Given the description of an element on the screen output the (x, y) to click on. 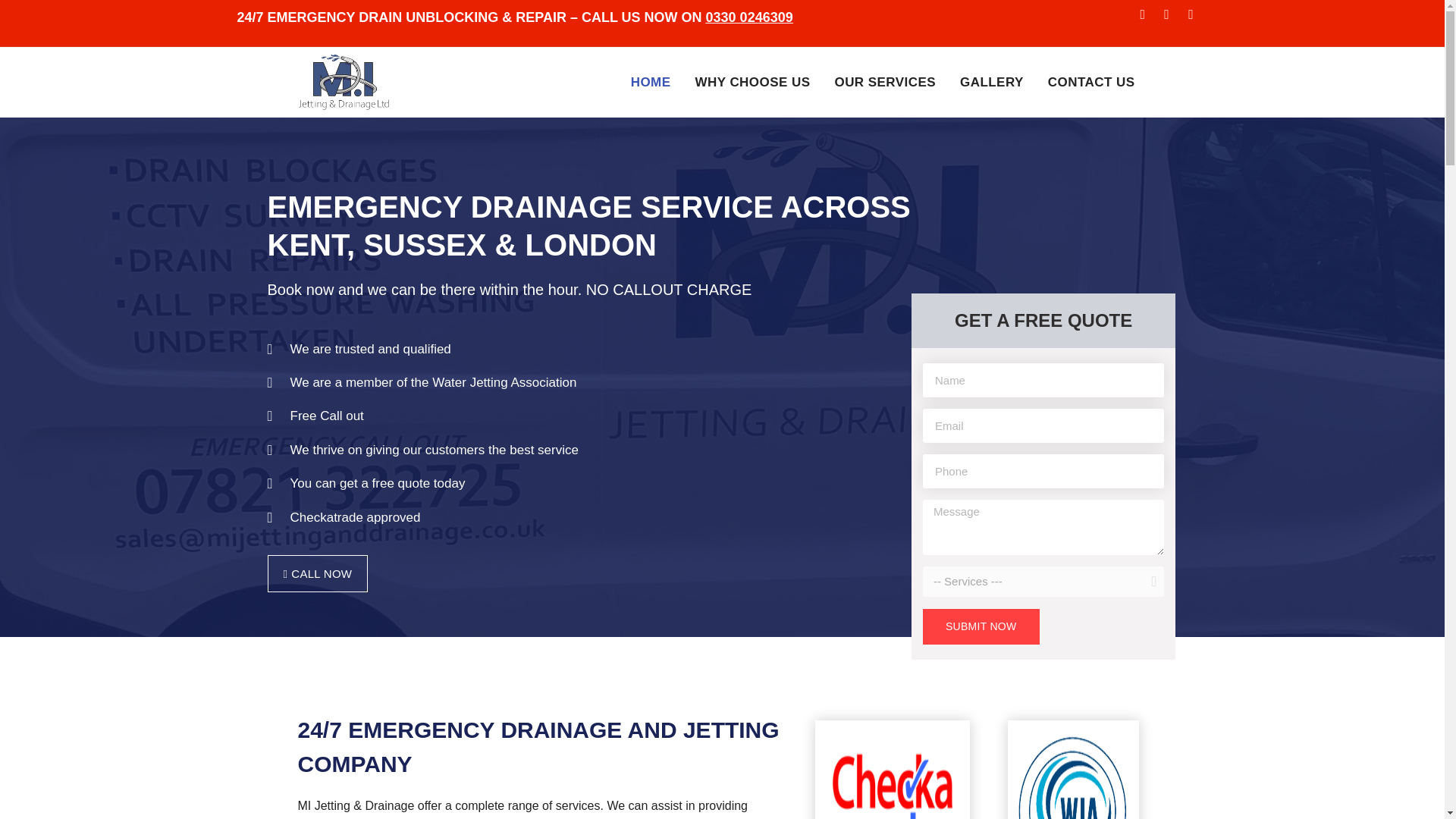
CALL NOW (317, 573)
CONTACT US (1091, 82)
WHY CHOOSE US (752, 82)
GALLERY (991, 82)
HOME (650, 82)
OUR SERVICES (884, 82)
SUBMIT NOW (981, 626)
0330 0246309 (749, 17)
